Given the description of an element on the screen output the (x, y) to click on. 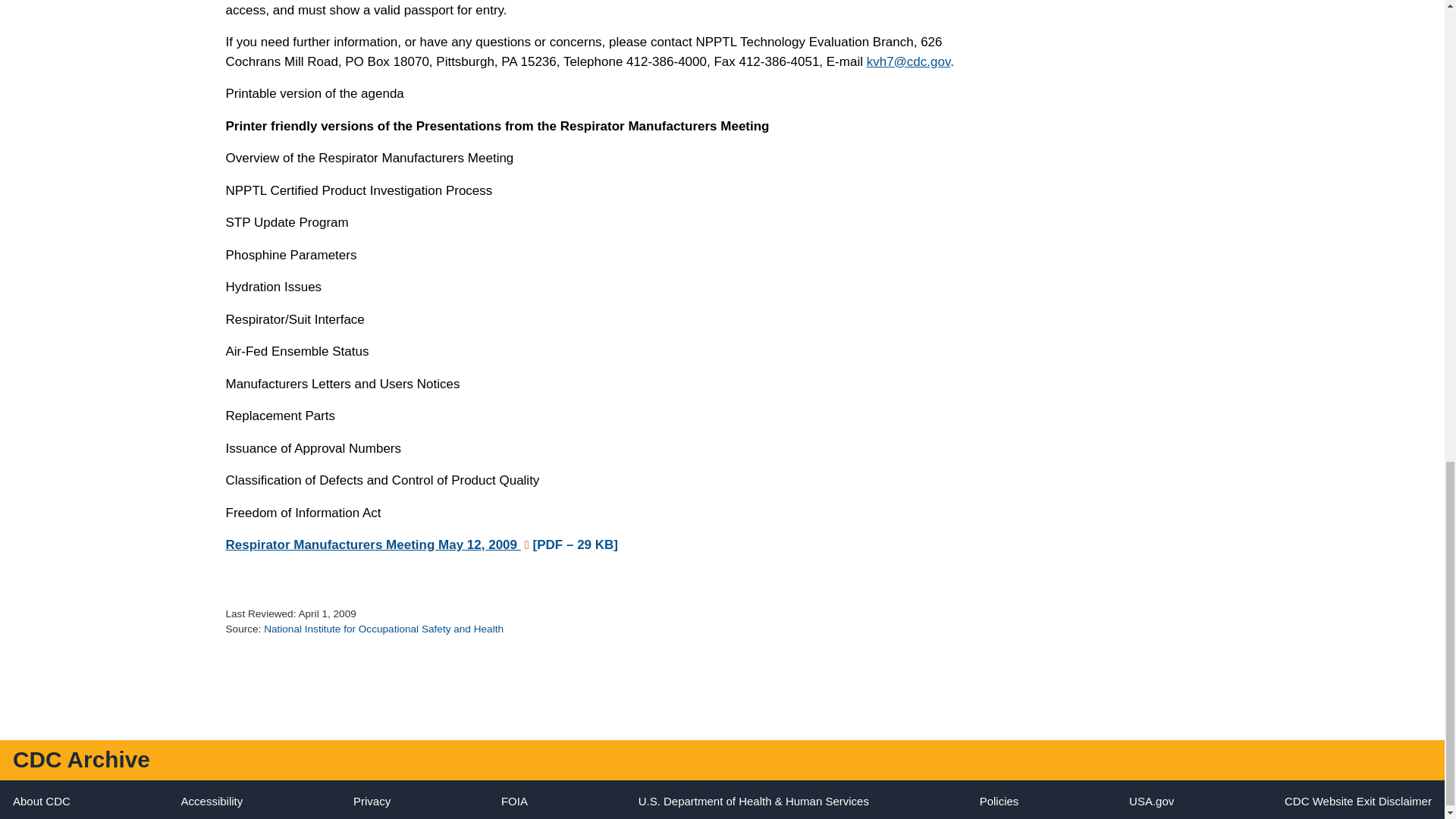
National Institute for Occupational Safety and Health (383, 628)
CDC Policies and Regulations (999, 800)
CDC Accessibility (211, 800)
CDC Twenty Four Seven (41, 800)
CDC Archive Home (81, 759)
USA.gov (1151, 800)
CDC Digital Media Channel Privacy Policy Notice (371, 800)
